Given the description of an element on the screen output the (x, y) to click on. 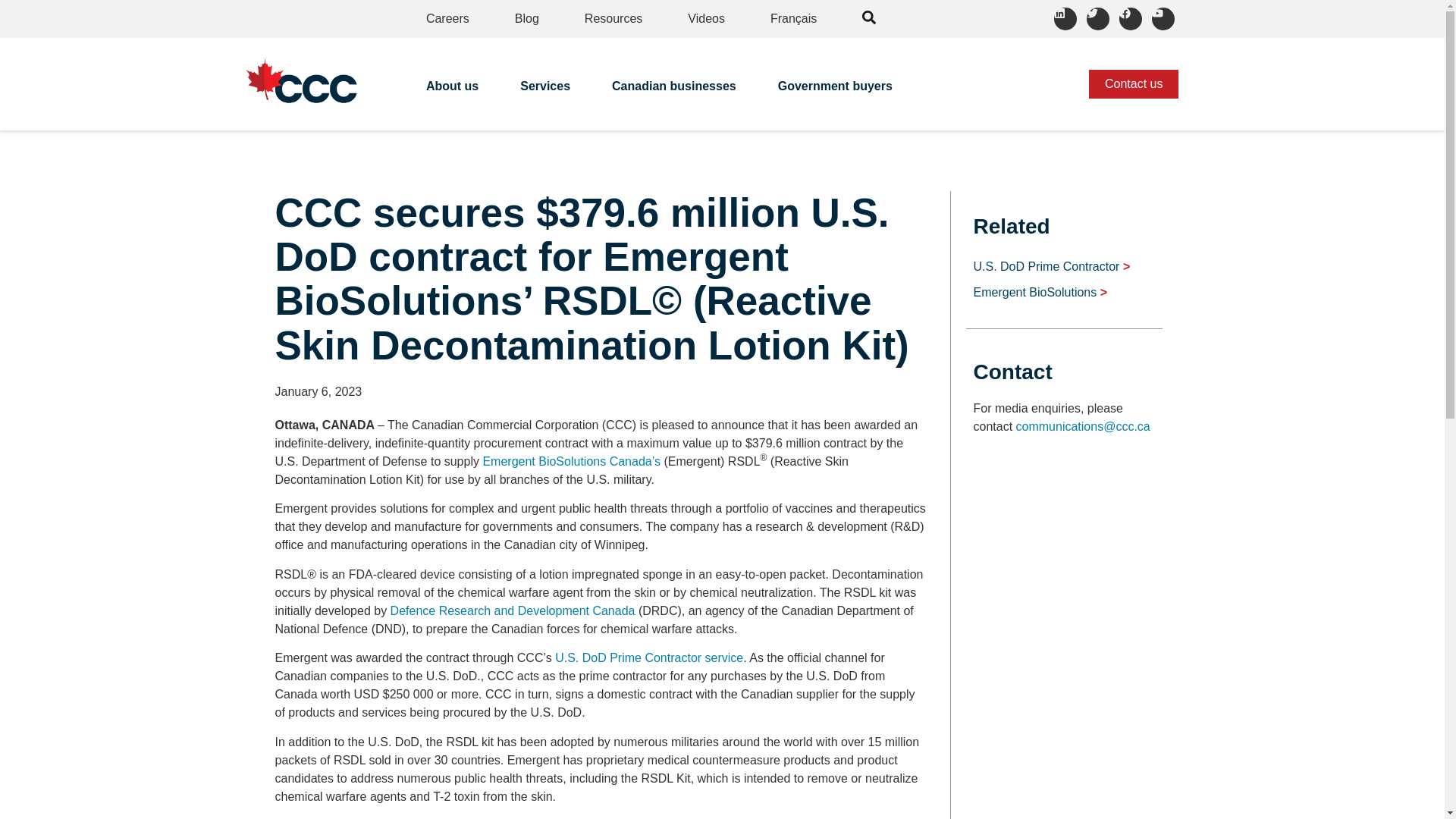
Canadian businesses (675, 90)
About us (453, 90)
Resources (613, 18)
search (868, 17)
Videos (706, 18)
Careers (447, 18)
Services (546, 90)
